Given the description of an element on the screen output the (x, y) to click on. 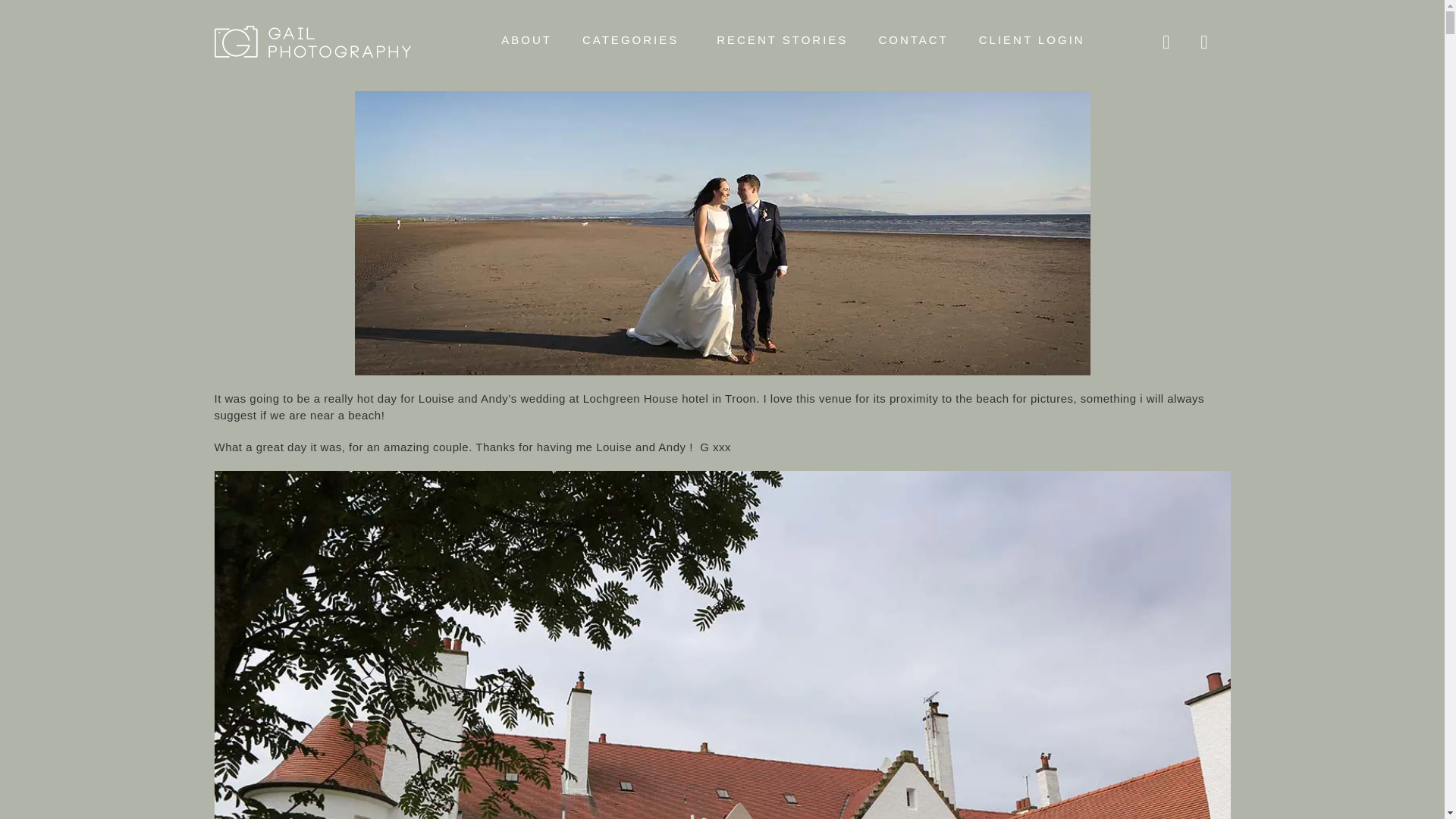
CONTACT (912, 39)
ABOUT (526, 39)
RECENT STORIES (782, 39)
CLIENT LOGIN (1031, 39)
CATEGORIES (634, 39)
